Given the description of an element on the screen output the (x, y) to click on. 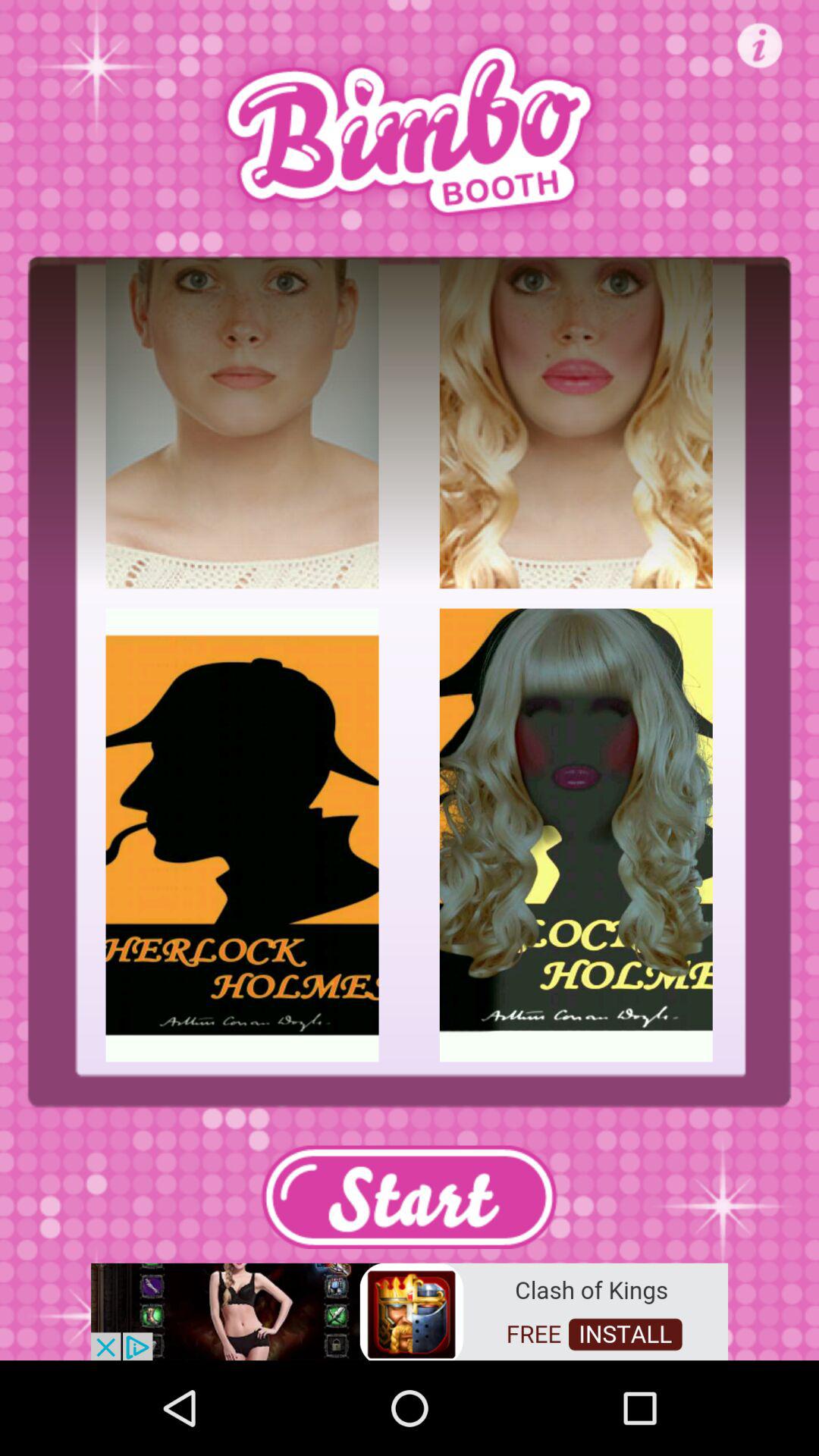
start it (408, 1196)
